Given the description of an element on the screen output the (x, y) to click on. 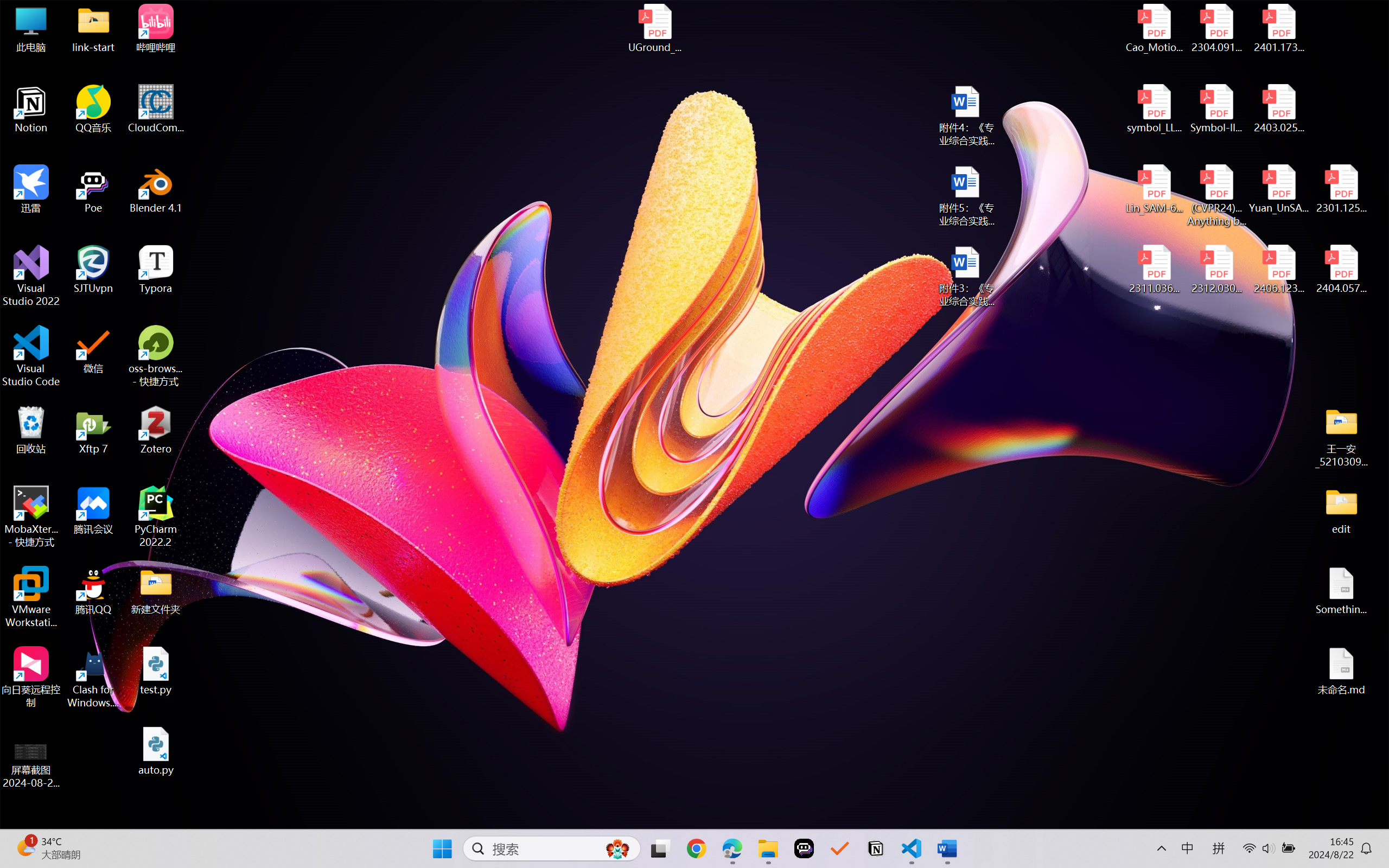
CloudCompare (156, 109)
Blender 4.1 (156, 189)
Typora (156, 269)
2311.03658v2.pdf (1154, 269)
2304.09121v3.pdf (1216, 28)
edit (1340, 510)
Something.md (1340, 591)
